Given the description of an element on the screen output the (x, y) to click on. 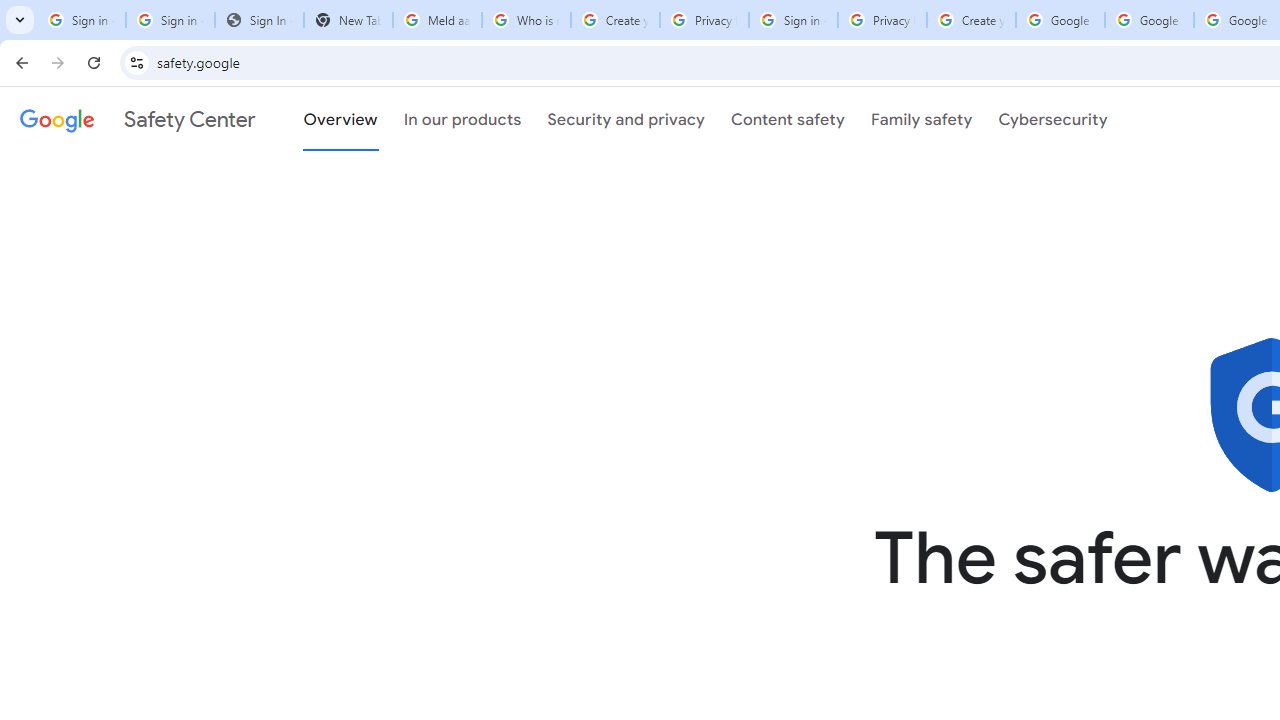
Safety Center (137, 119)
In our products (462, 119)
New Tab (347, 20)
Who is my administrator? - Google Account Help (526, 20)
Family safety (921, 119)
